Given the description of an element on the screen output the (x, y) to click on. 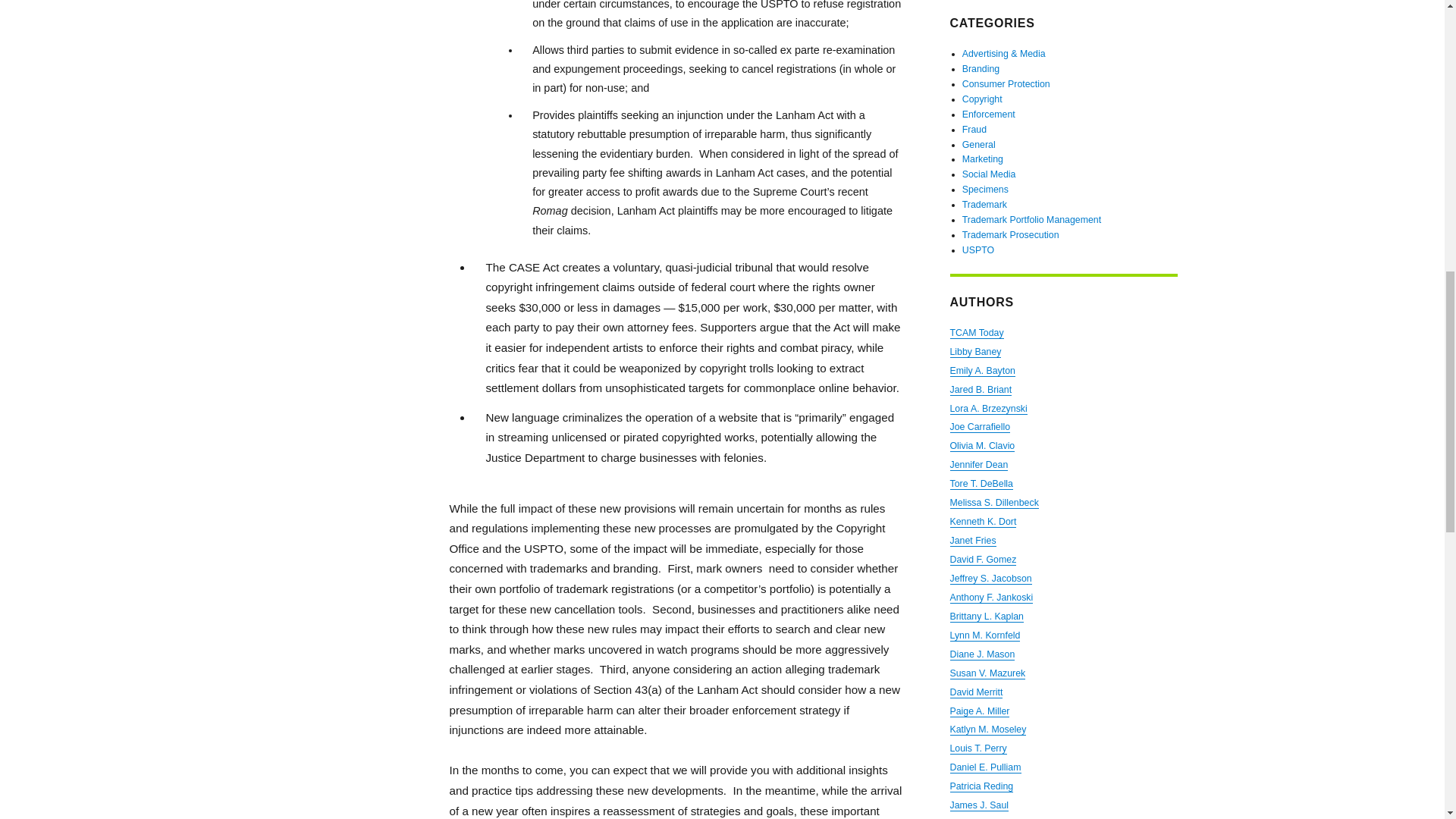
Specimens (985, 189)
Marketing (982, 158)
Social Media (989, 173)
Trademark Portfolio Management (1031, 219)
Branding (980, 68)
General (978, 144)
Fraud (974, 129)
Enforcement (988, 113)
Copyright (982, 99)
Consumer Protection (1005, 83)
Trademark (984, 204)
